Given the description of an element on the screen output the (x, y) to click on. 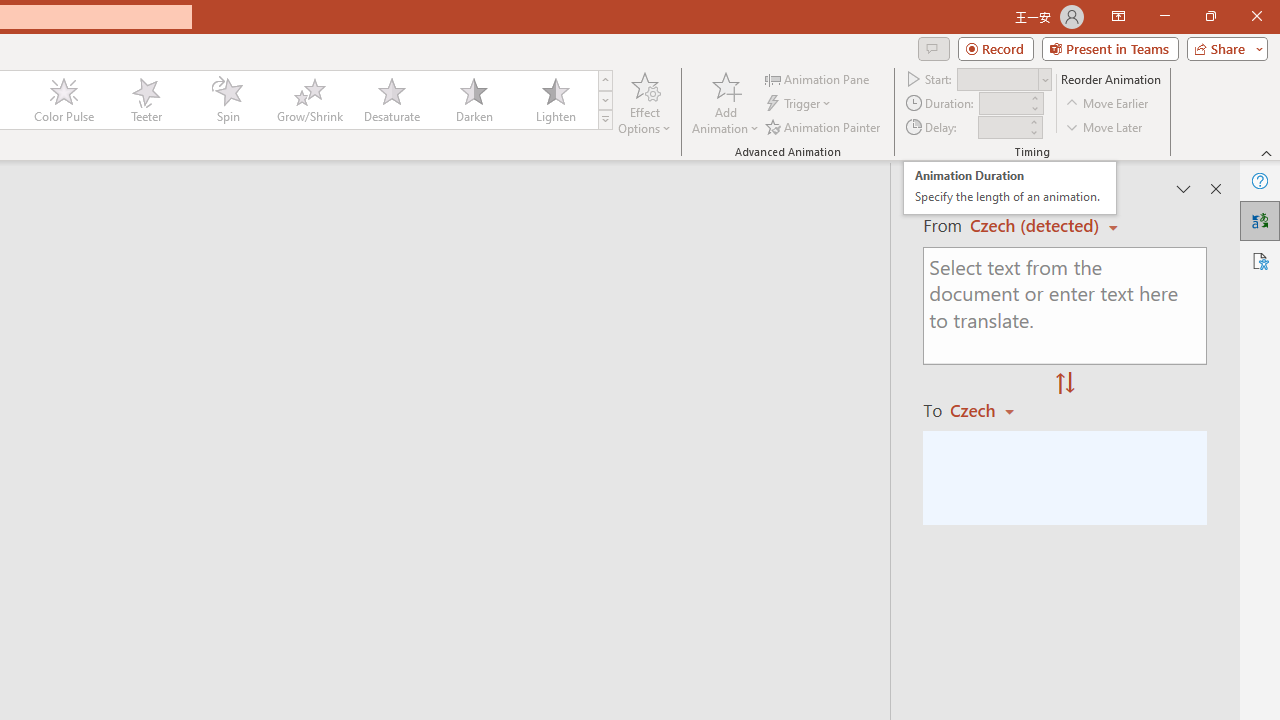
Color Pulse (63, 100)
Grow/Shrink (309, 100)
Move Earlier (1107, 103)
Animation Styles (605, 120)
Move Later (1105, 126)
Animation Pane (818, 78)
